Given the description of an element on the screen output the (x, y) to click on. 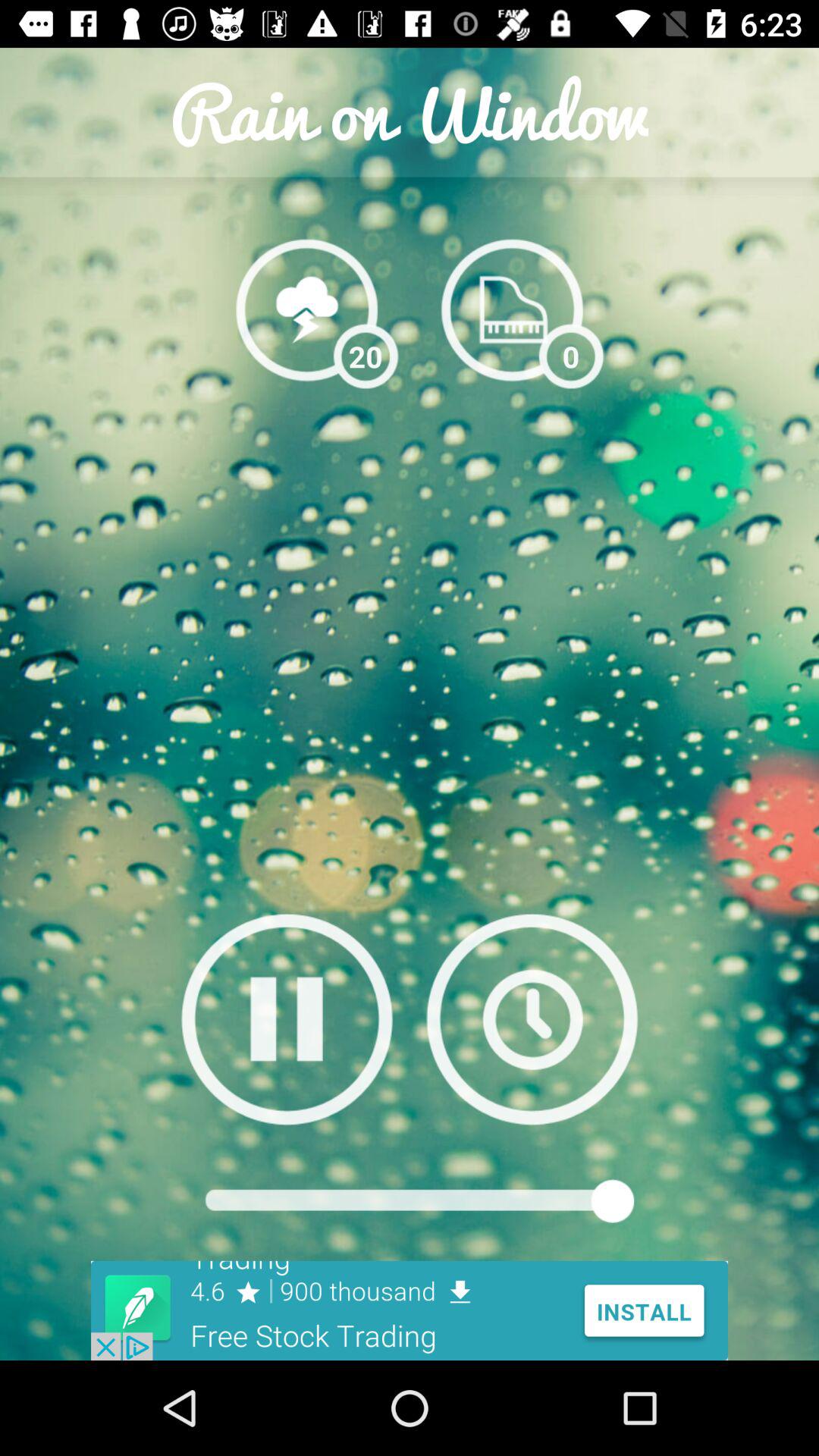
set time button (531, 1018)
